Given the description of an element on the screen output the (x, y) to click on. 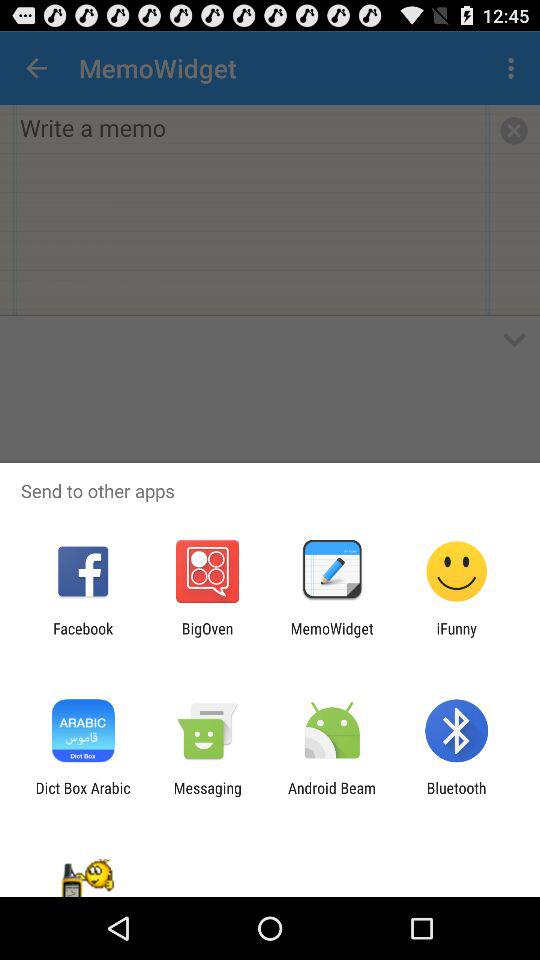
launch item next to the memowidget app (207, 637)
